Given the description of an element on the screen output the (x, y) to click on. 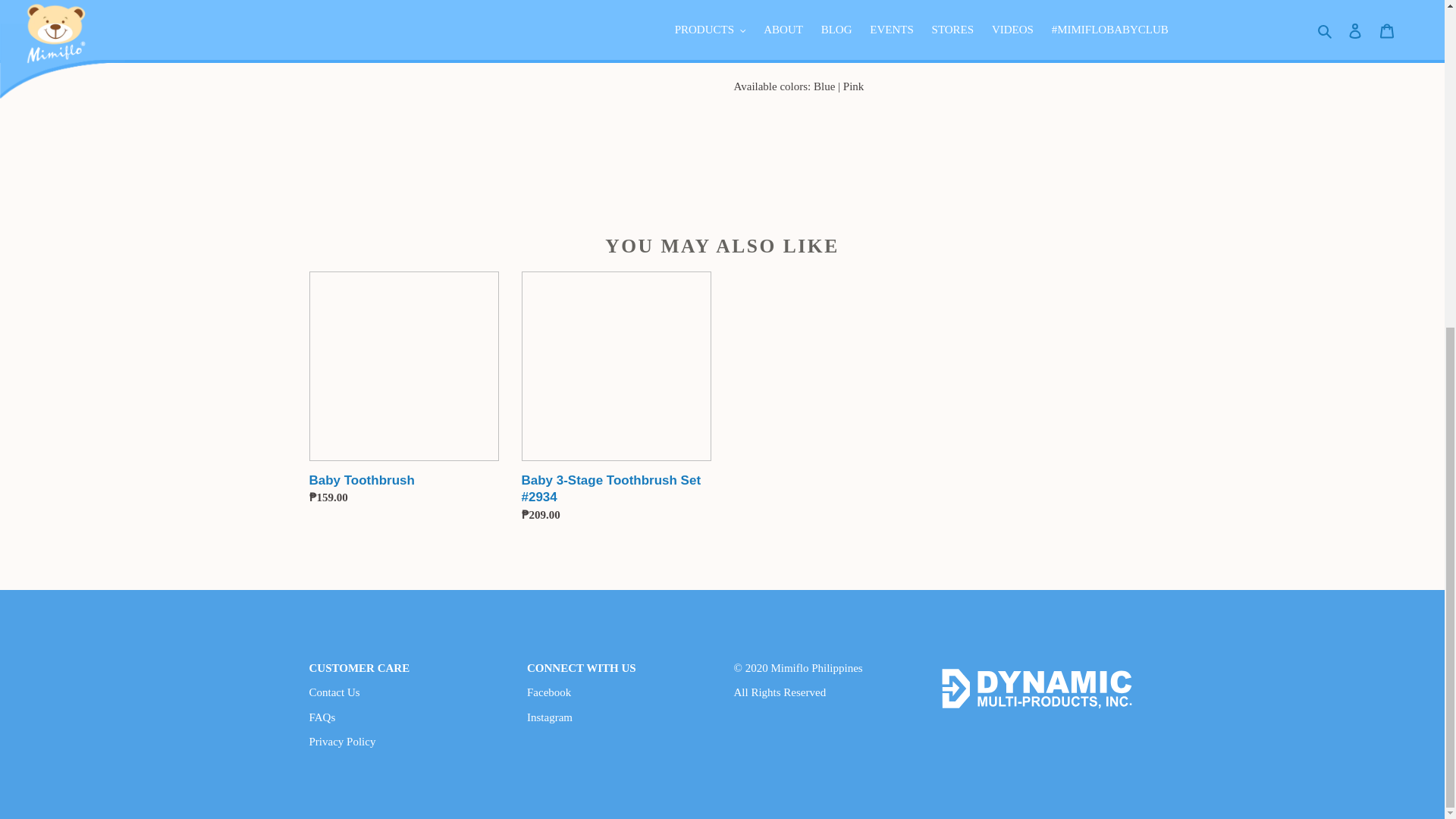
FAQ (322, 717)
Contact Us (333, 692)
Policy (341, 741)
